Given the description of an element on the screen output the (x, y) to click on. 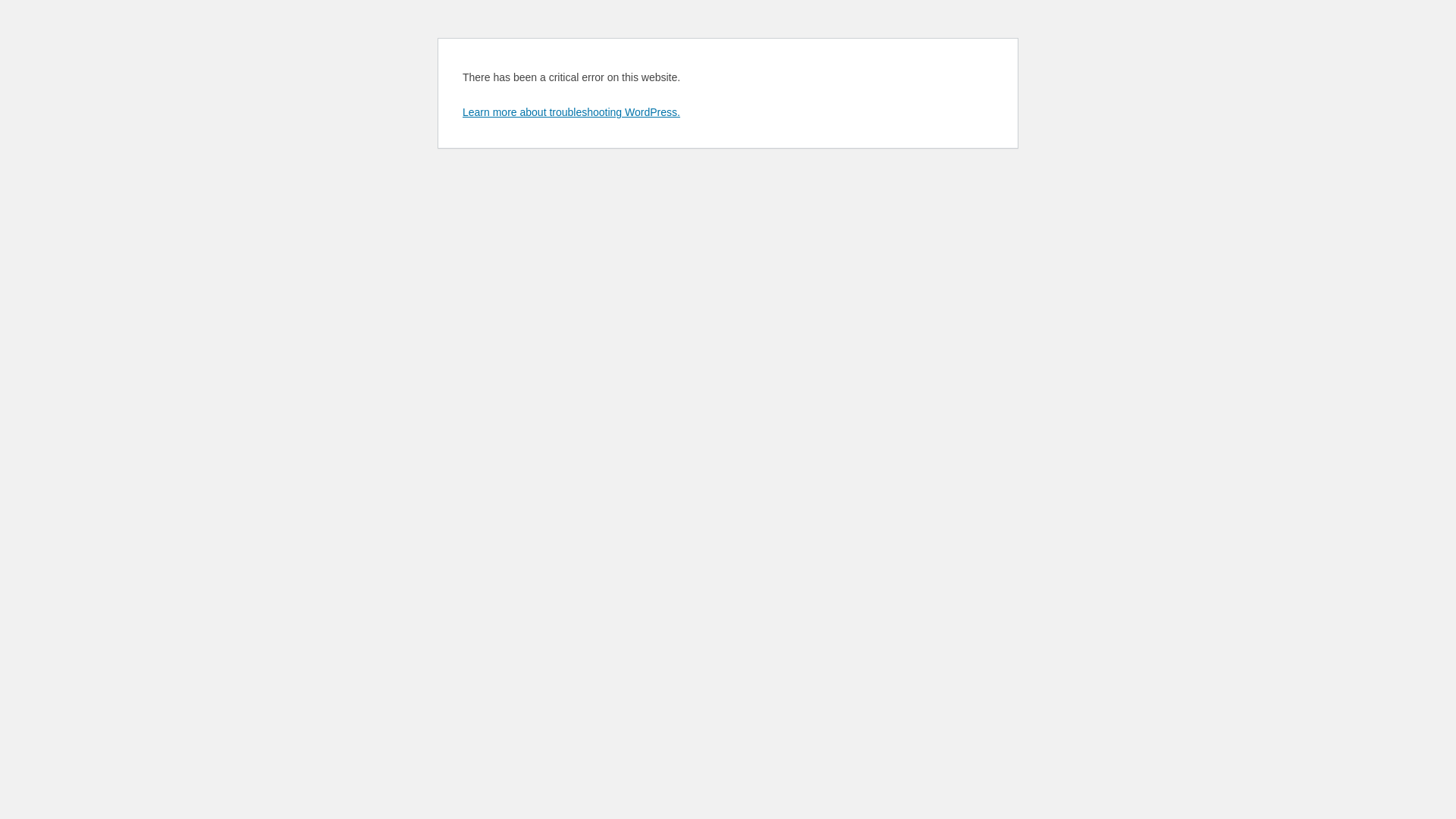
Learn more about troubleshooting WordPress. Element type: text (571, 112)
